Given the description of an element on the screen output the (x, y) to click on. 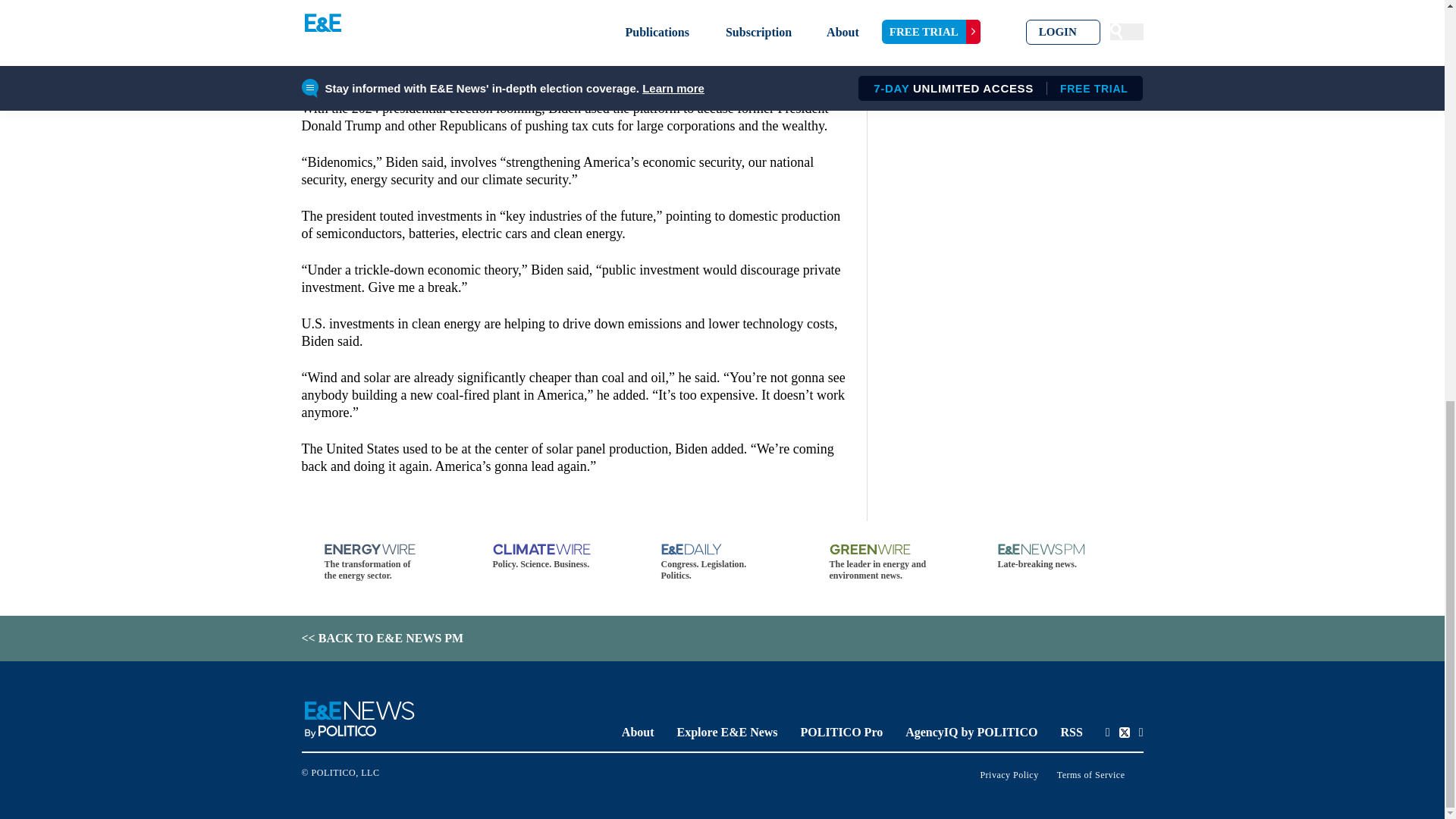
POLITICO Pro (841, 731)
The transformation of the energy sector. (385, 562)
About (637, 731)
Policy. Science. Business. (554, 556)
Congress. Legislation. Politics. (722, 562)
AgencyIQ by POLITICO (970, 731)
3rd party ad content (577, 31)
Late-breaking news. (1058, 556)
The leader in energy and environment news. (890, 562)
RSS (1070, 731)
